Given the description of an element on the screen output the (x, y) to click on. 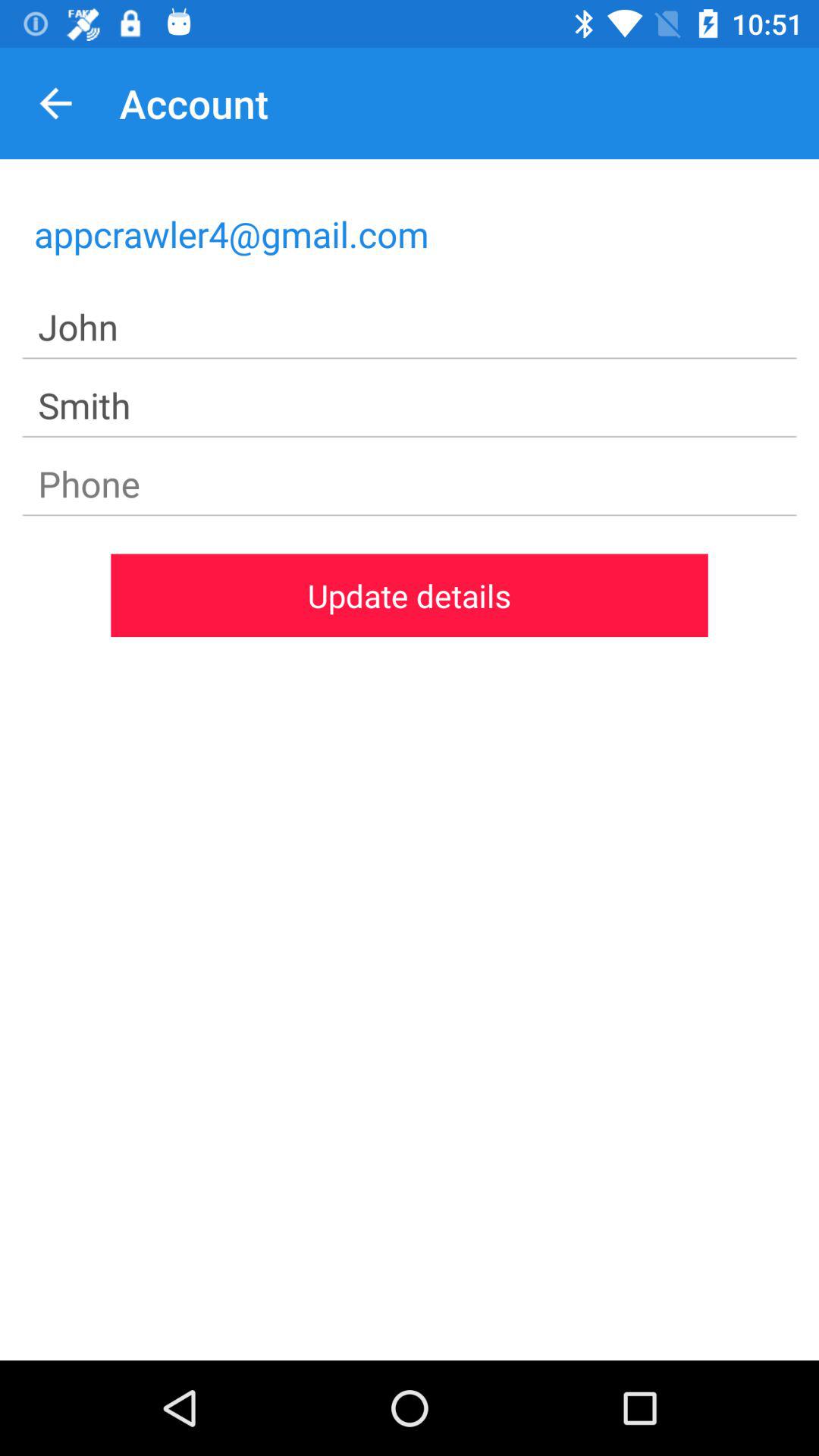
tap the appcrawler4@gmail.com item (409, 233)
